Given the description of an element on the screen output the (x, y) to click on. 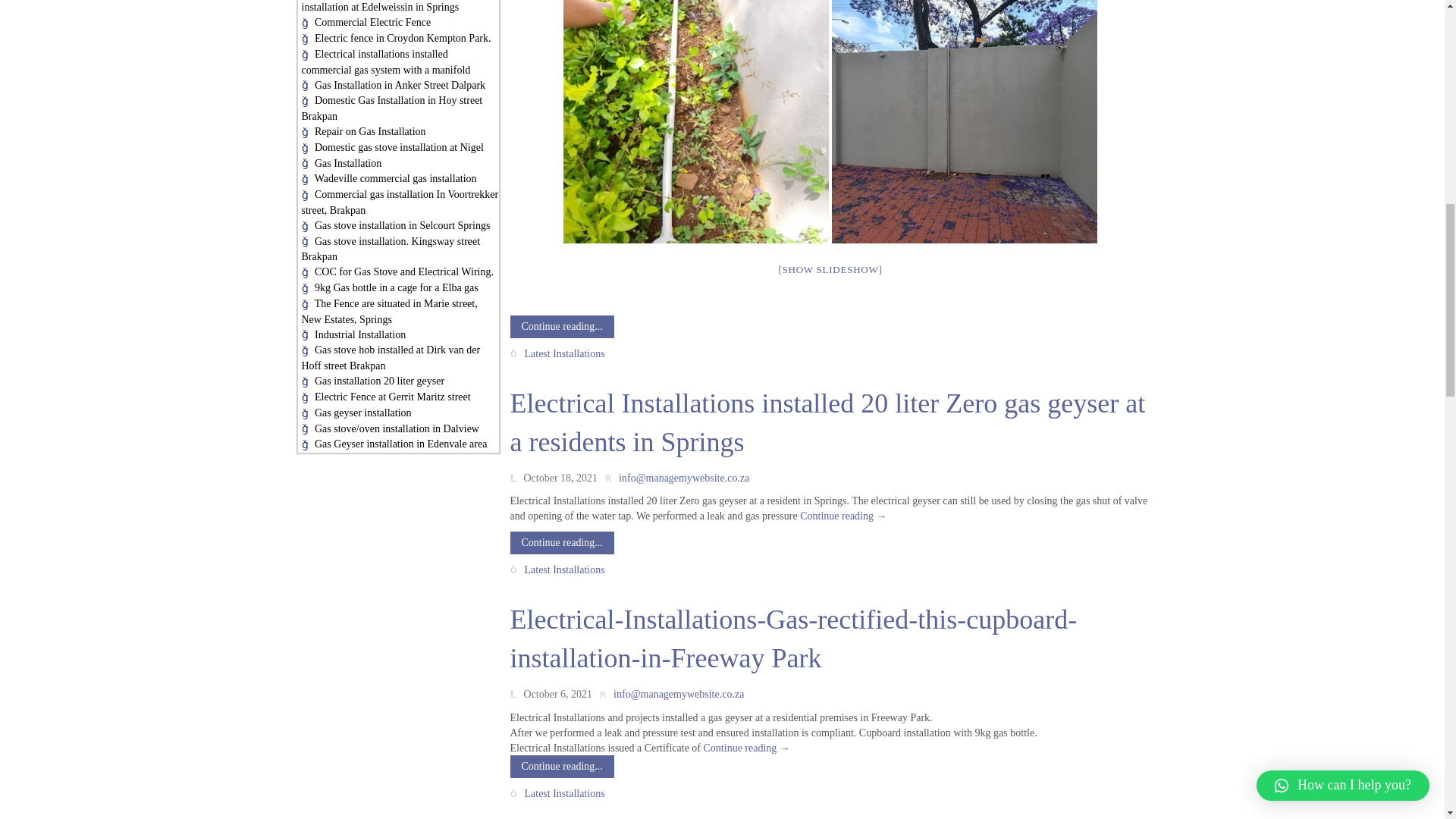
Electrical-Installations-inspected-fence-in-Pretoria0003 (964, 121)
Commercial Electric Fence (372, 21)
Continue reading... (560, 326)
Electrical-Installations-inspected-fence-in-Pretoria0004 (695, 121)
